Given the description of an element on the screen output the (x, y) to click on. 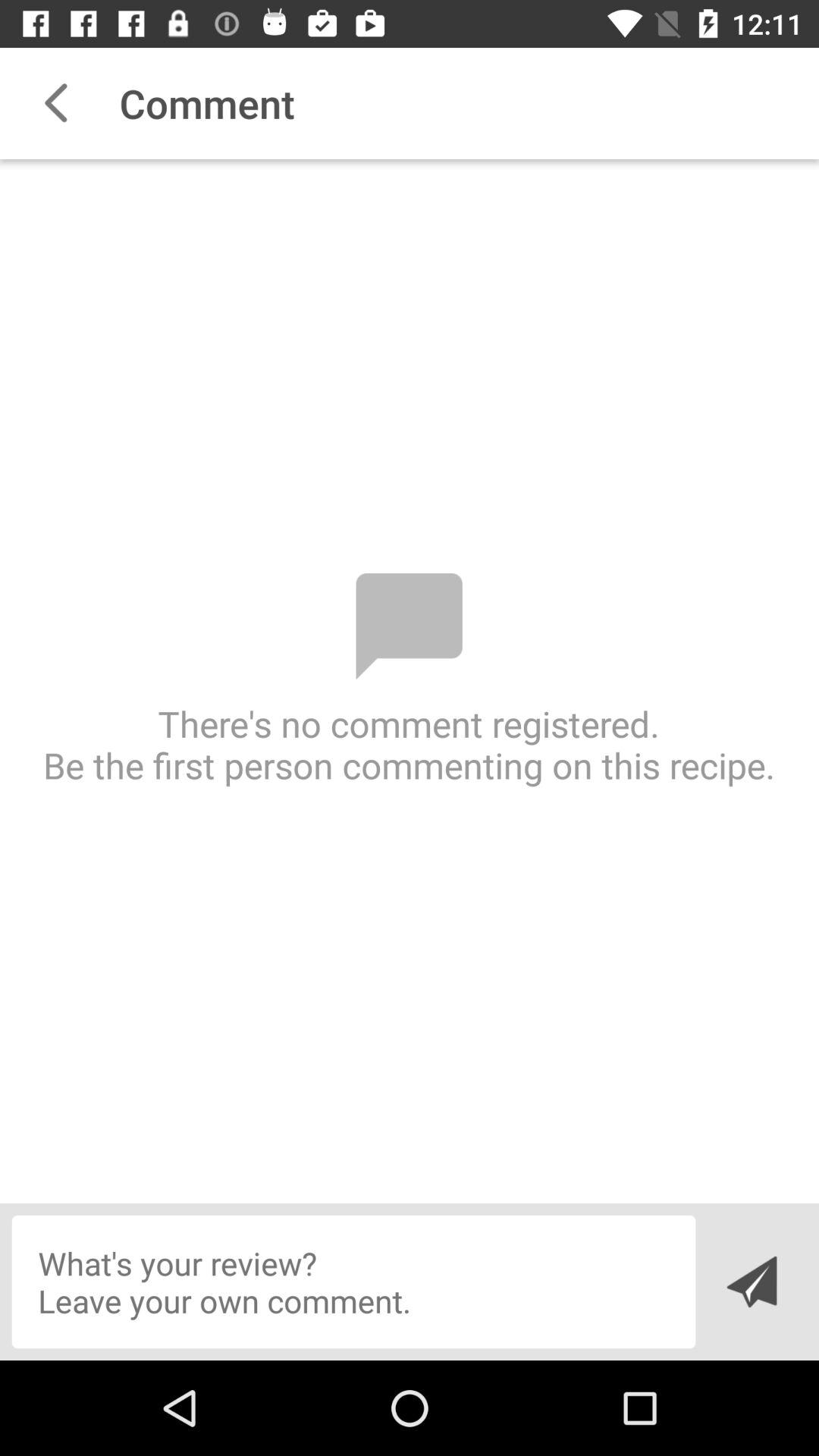
press icon below there s no (353, 1281)
